Given the description of an element on the screen output the (x, y) to click on. 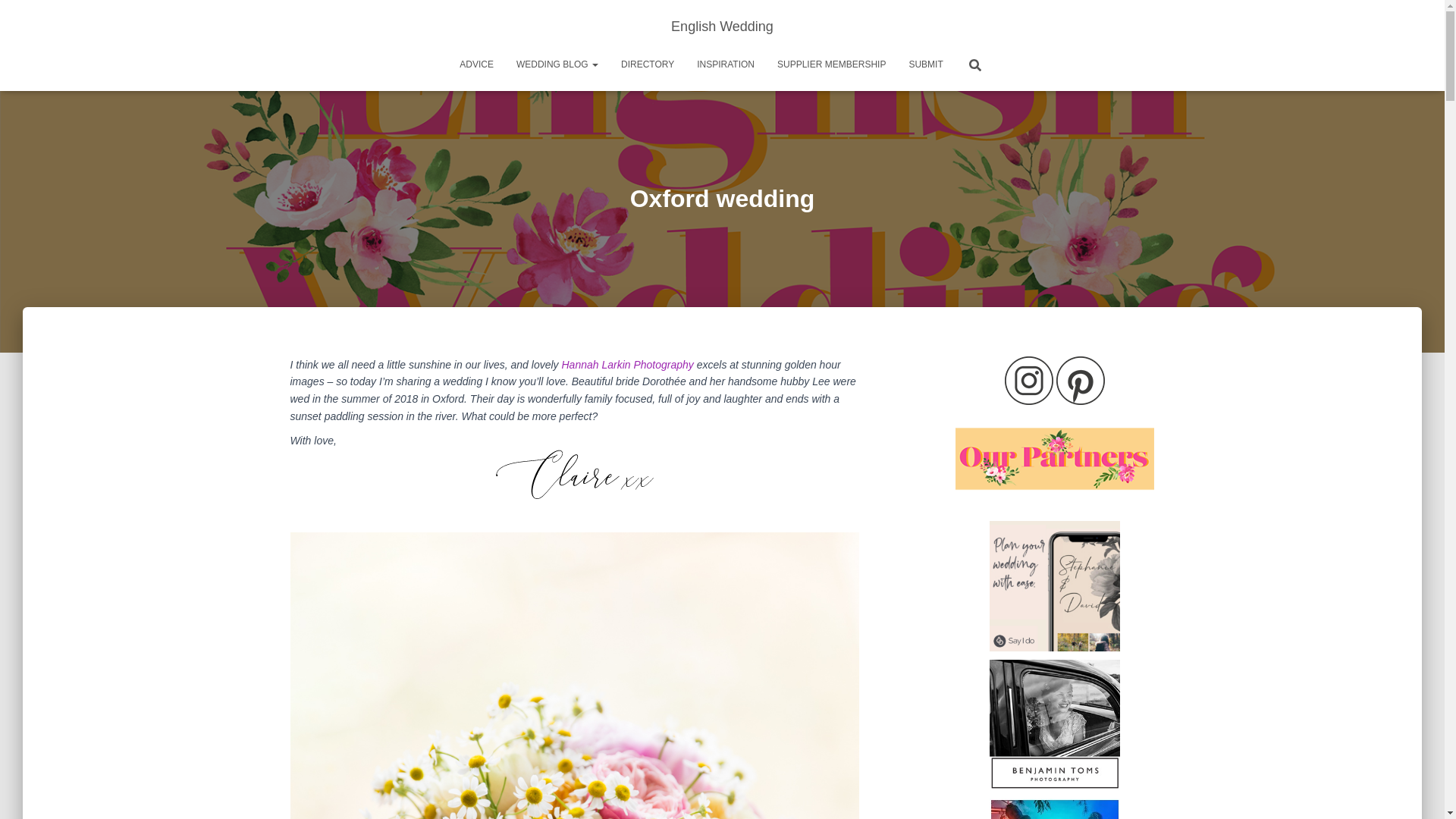
DIRECTORY (647, 64)
Search (3, 16)
English Wedding (721, 26)
SUPPLIER MEMBERSHIP (830, 64)
Directory (647, 64)
Wedding Blog (557, 64)
Advice (476, 64)
English Wedding (721, 26)
INSPIRATION (725, 64)
WEDDING BLOG (557, 64)
Hannah Larkin Photography (626, 364)
SUBMIT (924, 64)
ADVICE (476, 64)
